Given the description of an element on the screen output the (x, y) to click on. 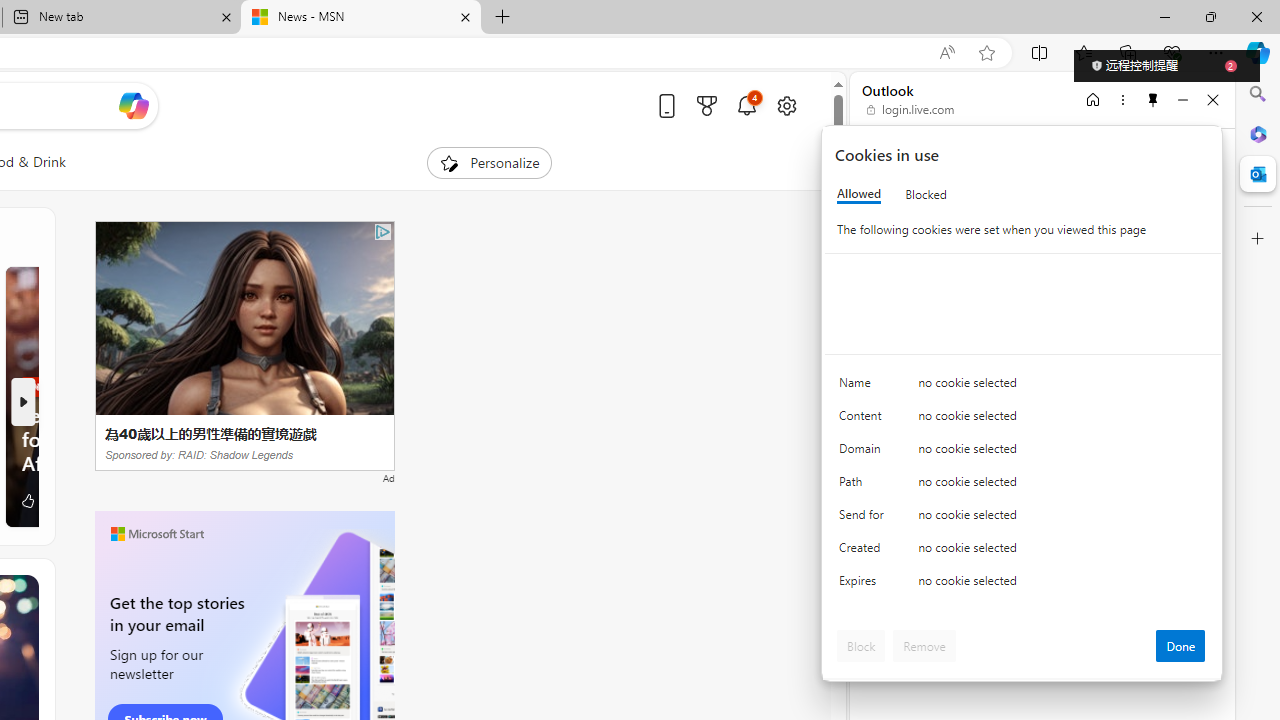
Done (1179, 645)
Class: c0153 c0157 c0154 (1023, 386)
